Given the description of an element on the screen output the (x, y) to click on. 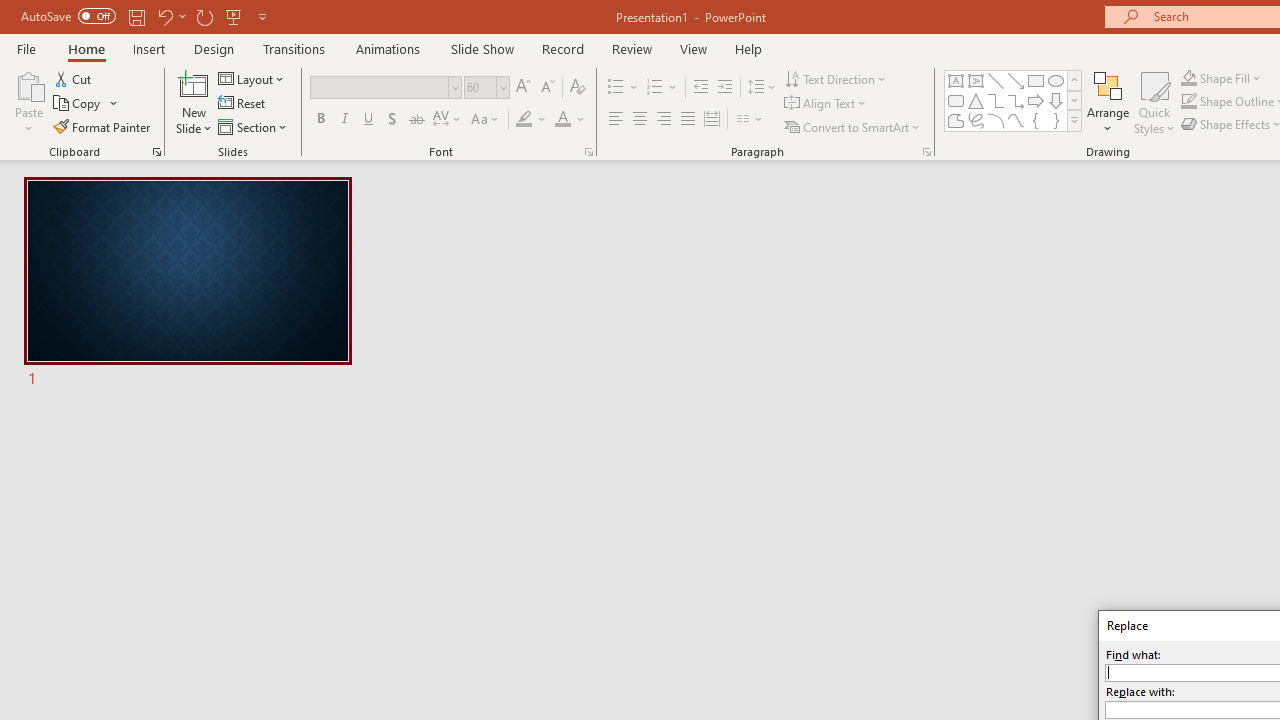
Center (639, 119)
Increase Indent (725, 87)
Columns (750, 119)
Decrease Font Size (547, 87)
Text Highlight Color (531, 119)
Rectangle (1035, 80)
Align Text (826, 103)
Layout (252, 78)
Arrow: Down (1055, 100)
